Given the description of an element on the screen output the (x, y) to click on. 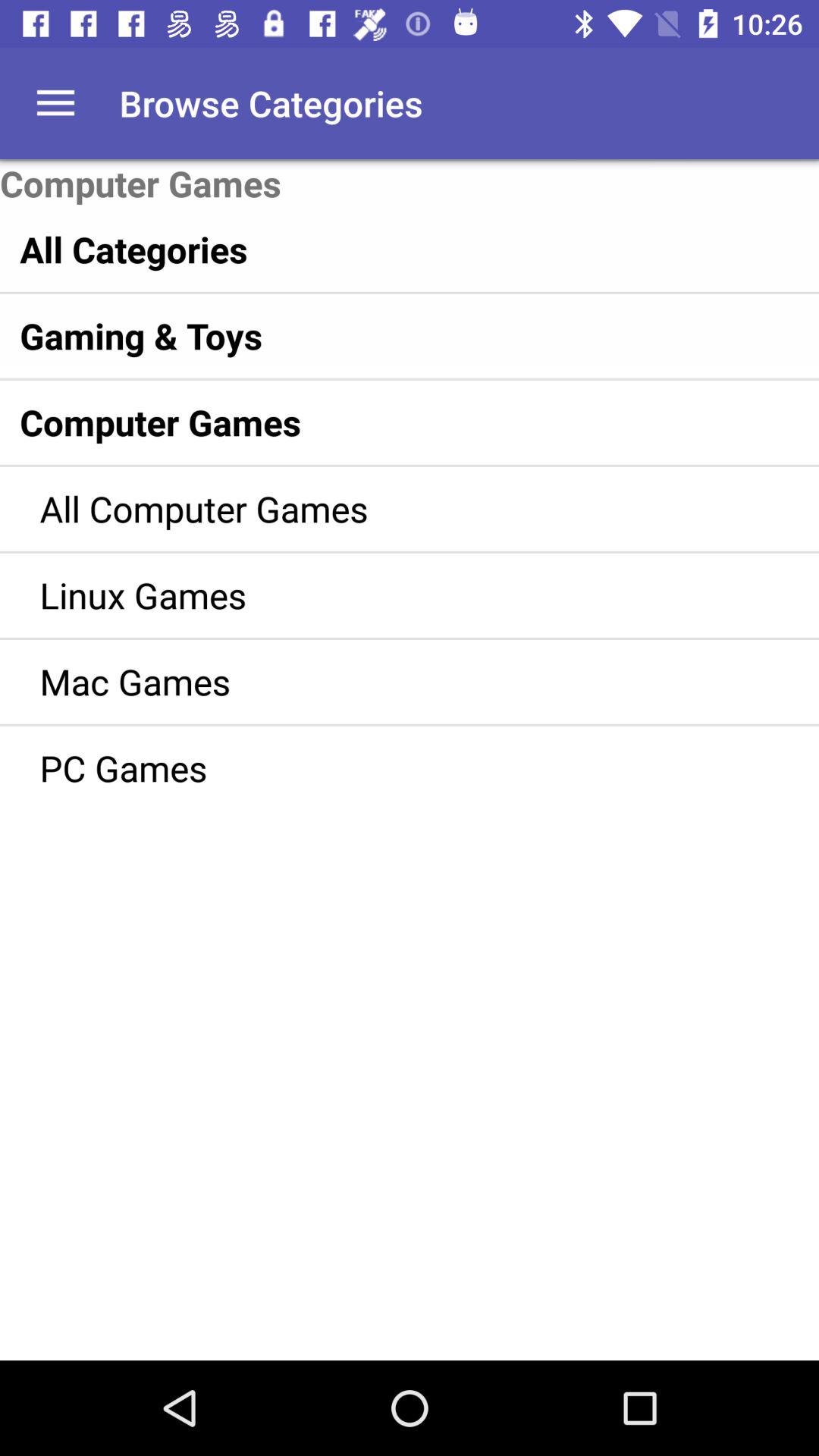
turn on the gaming & toys icon (377, 335)
